Given the description of an element on the screen output the (x, y) to click on. 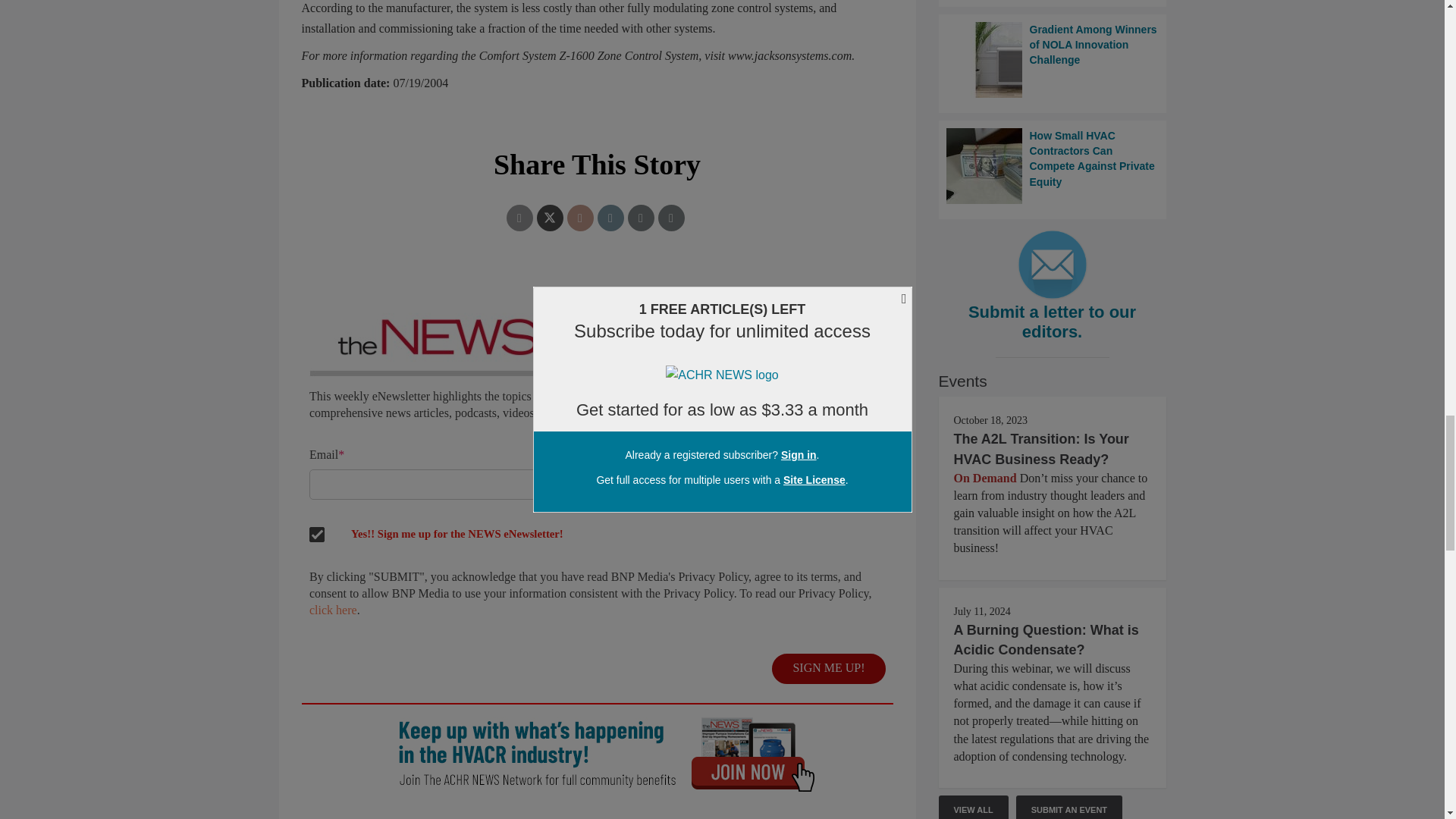
The A2L Transition: Is Your HVAC Business Ready? (1041, 448)
Gradient Among Winners of NOLA Innovation Challenge (1052, 59)
